Given the description of an element on the screen output the (x, y) to click on. 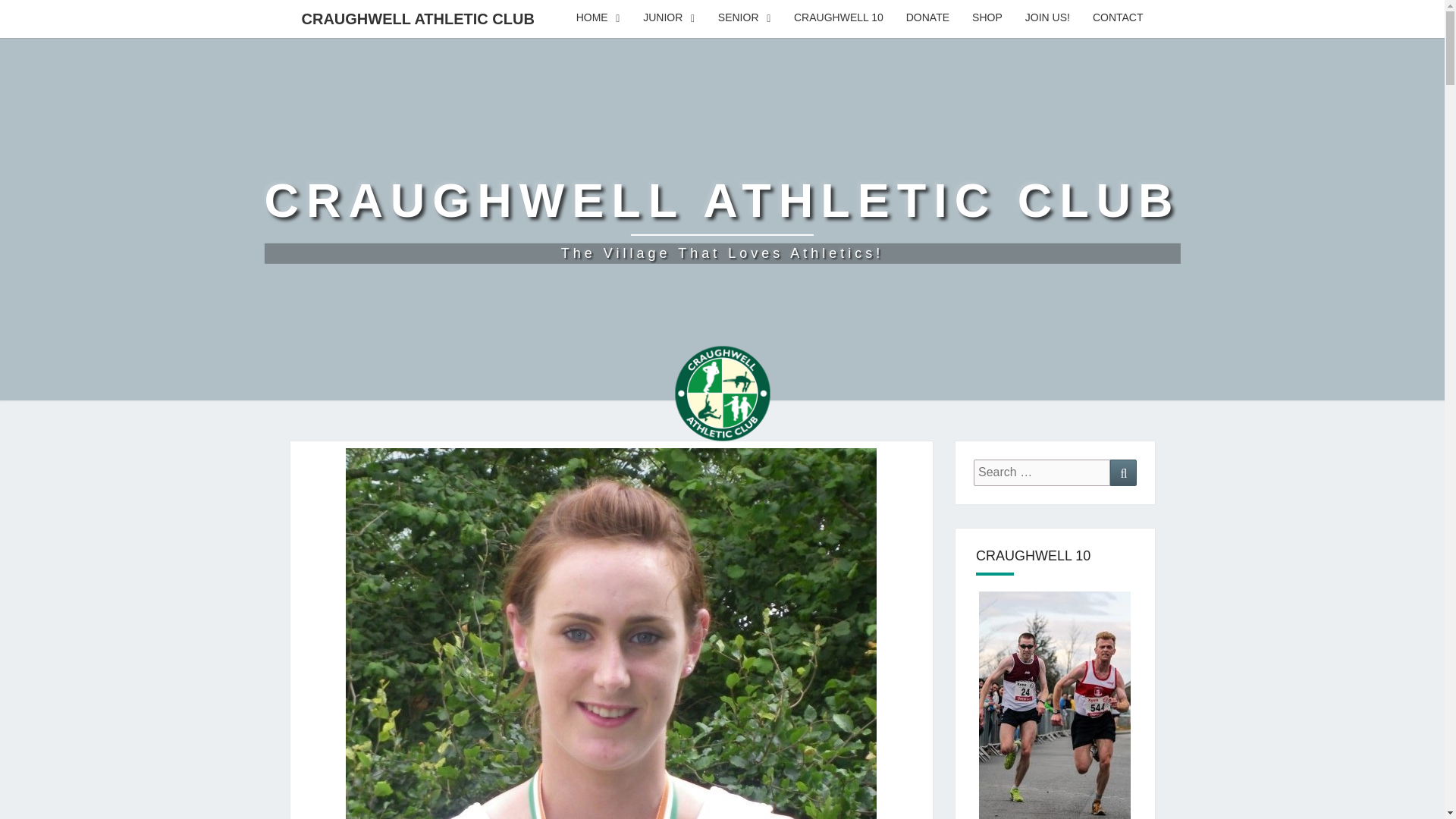
HOME (597, 18)
CRAUGHWELL ATHLETIC CLUB (416, 18)
JOIN US! (1047, 18)
SHOP (986, 18)
CRAUGHWELL 10 (839, 18)
JUNIOR (668, 18)
DONATE (927, 18)
SENIOR (744, 18)
Search for: (721, 218)
Craughwell Athletic Club (1041, 472)
CONTACT (721, 218)
Craughwell Athletic Club (1117, 18)
